Given the description of an element on the screen output the (x, y) to click on. 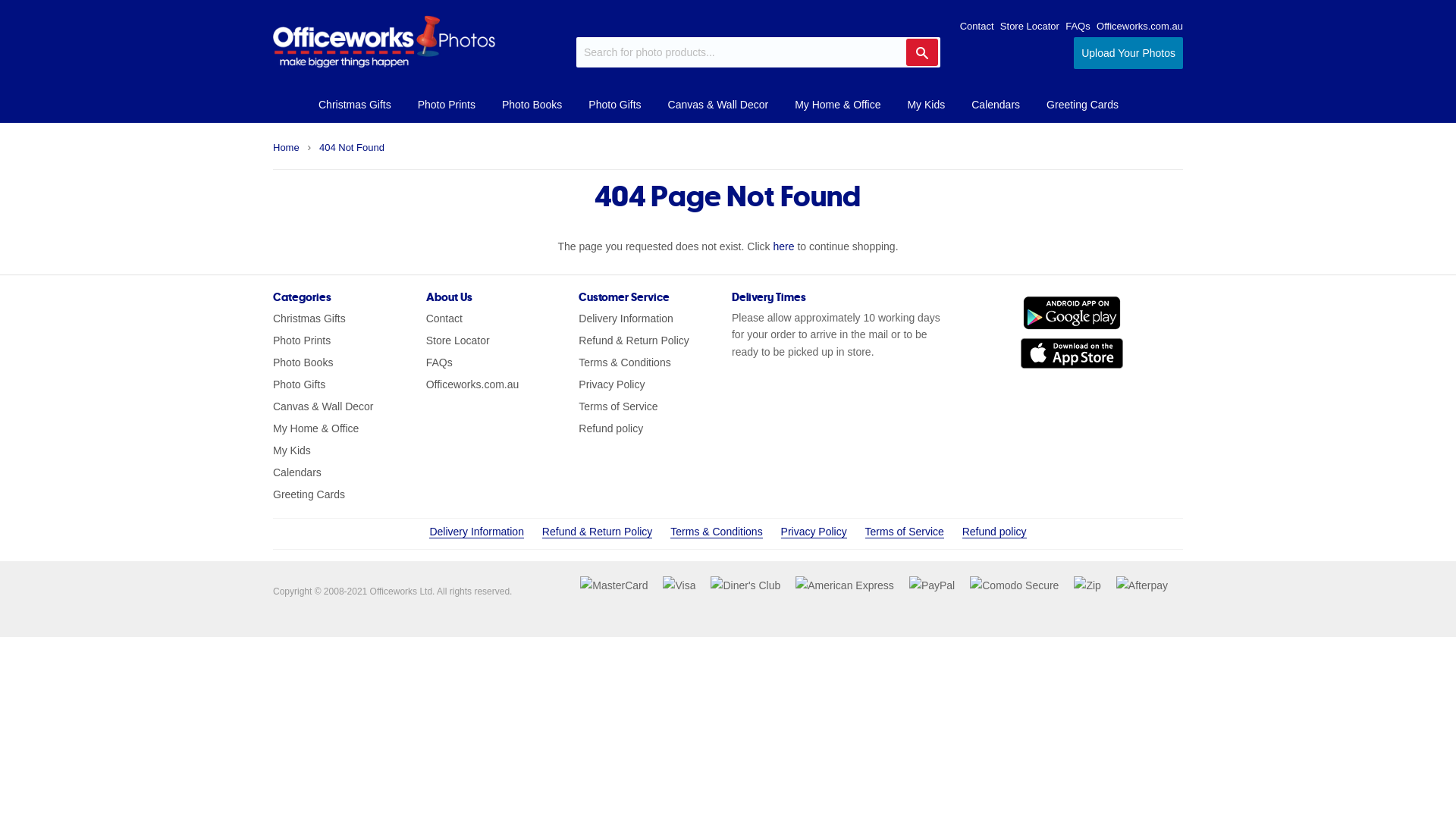
FAQs Element type: text (1077, 25)
Refund policy Element type: text (994, 531)
Refund & Return Policy Element type: text (633, 340)
Photo Prints Element type: text (446, 104)
Store Locator Element type: text (1029, 25)
Terms & Conditions Element type: text (624, 362)
Store Locator Element type: text (457, 340)
Greeting Cards Element type: text (1082, 104)
Greeting Cards Element type: text (309, 494)
My Kids Element type: text (925, 104)
Terms & Conditions Element type: text (716, 531)
Delivery Information Element type: text (625, 318)
Refund & Return Policy Element type: text (597, 531)
Contact Element type: text (444, 318)
Canvas & Wall Decor Element type: text (323, 406)
Christmas Gifts Element type: text (309, 318)
Christmas Gifts Element type: text (354, 104)
Photo Gifts Element type: text (299, 384)
Calendars Element type: text (297, 472)
Home Element type: text (286, 148)
Calendars Element type: text (995, 104)
Photo Books Element type: text (531, 104)
Photo Gifts Element type: text (614, 104)
Terms of Service Element type: text (904, 531)
Photo Prints Element type: text (301, 340)
Delivery Information Element type: text (476, 531)
Search Element type: text (922, 51)
Upload Your Photos Element type: text (1128, 53)
Contact Element type: text (977, 25)
FAQs Element type: text (439, 362)
My Kids Element type: text (291, 450)
Privacy Policy Element type: text (611, 384)
My Home & Office Element type: text (315, 428)
Officeworks.com.au Element type: text (1139, 25)
My Home & Office Element type: text (837, 104)
Privacy Policy Element type: text (814, 531)
Officeworks.com.au Element type: text (472, 384)
Refund policy Element type: text (610, 428)
Canvas & Wall Decor Element type: text (718, 104)
here Element type: text (783, 246)
Photo Books Element type: text (302, 362)
Terms of Service Element type: text (617, 406)
